Given the description of an element on the screen output the (x, y) to click on. 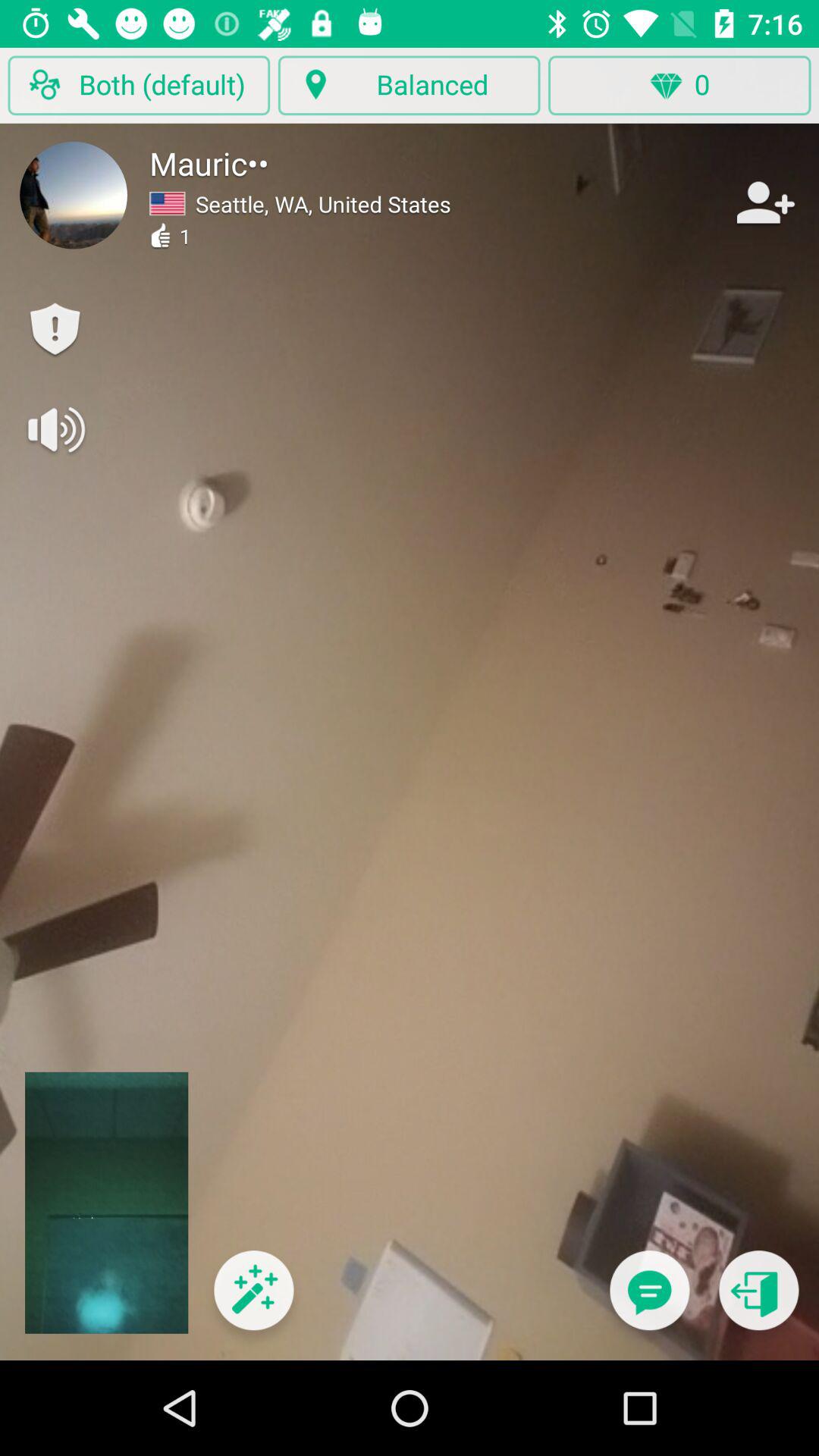
move to left of mauric (73, 194)
click the sound button (54, 429)
click on the bottom right symbol (759, 1300)
click on the tab mentioned at top left corner (139, 85)
click on the icon which is at bottom left (253, 1300)
select the diamond button which is top right corner (679, 85)
